Given the description of an element on the screen output the (x, y) to click on. 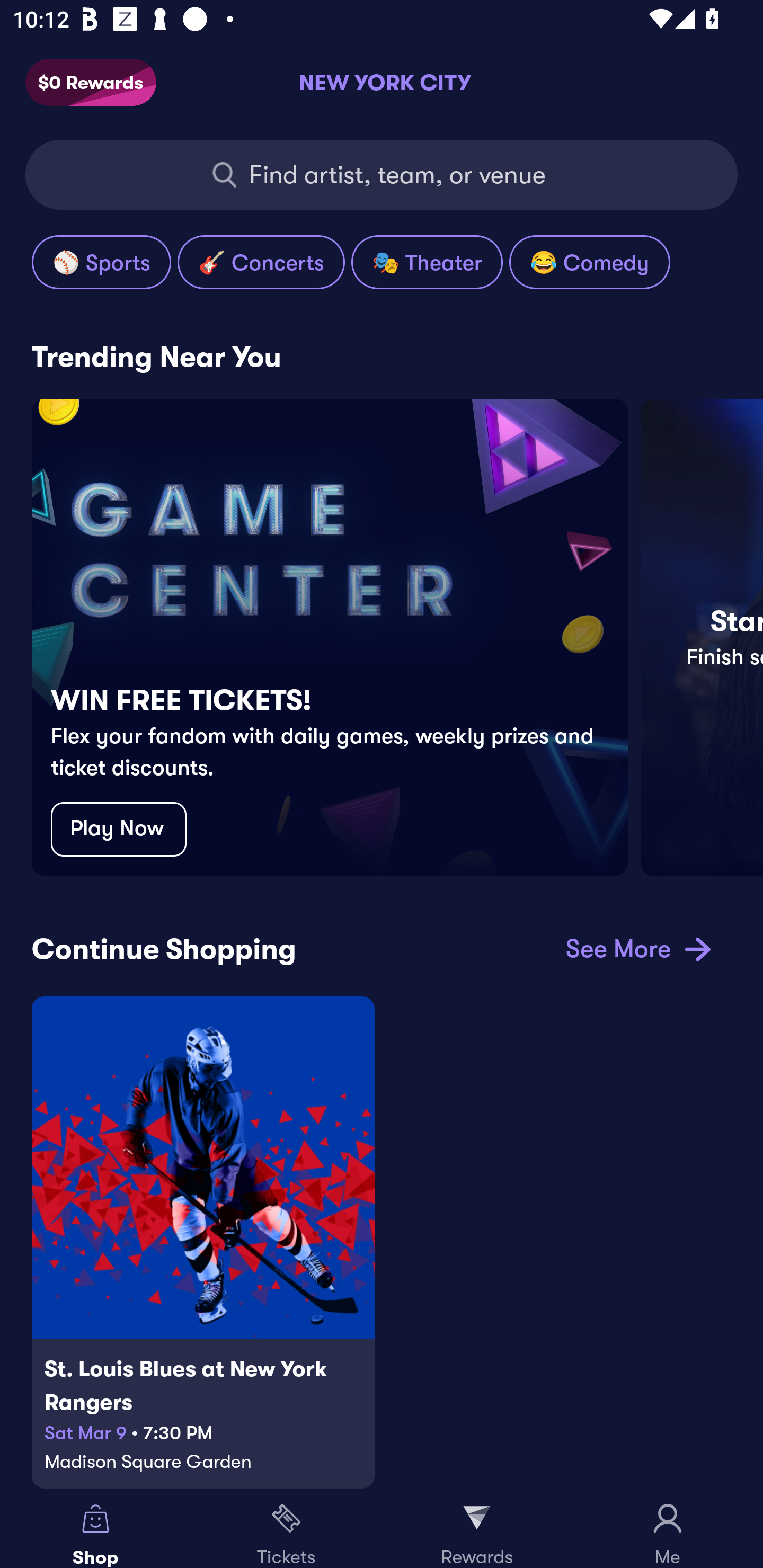
$0 Rewards (90, 82)
NEW YORK CITY (381, 81)
Find artist, team, or venue (381, 174)
⚾ Sports (101, 261)
🎸 Concerts (261, 261)
🎭 Theater (426, 261)
😂 Comedy (589, 261)
See More (635, 948)
Shop (95, 1529)
Tickets (285, 1529)
Rewards (476, 1529)
Me (667, 1529)
